Given the description of an element on the screen output the (x, y) to click on. 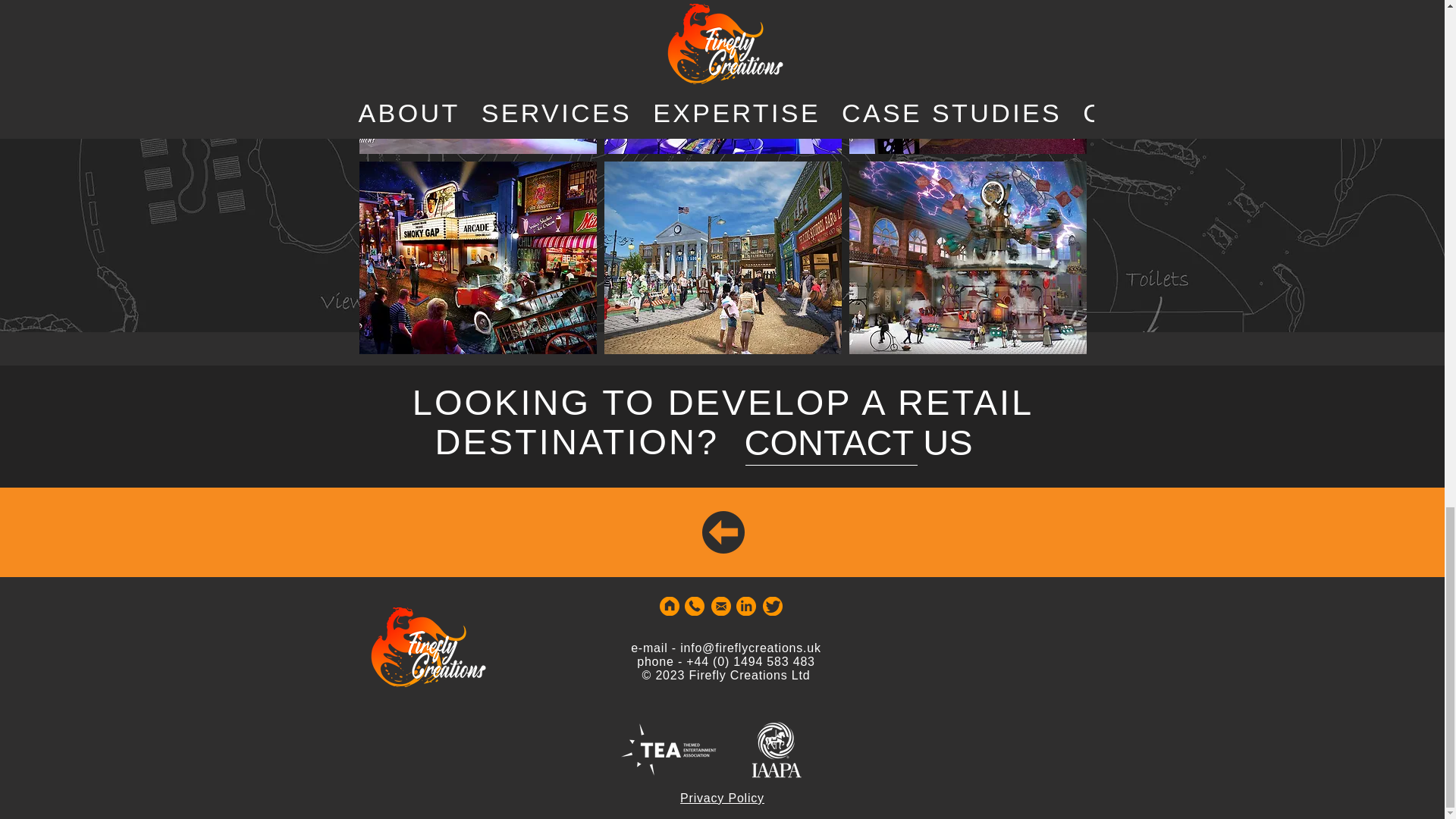
Linkedin profile (745, 606)
CONTACT US (858, 441)
Email us (720, 606)
Privacy Policy (721, 797)
